Given the description of an element on the screen output the (x, y) to click on. 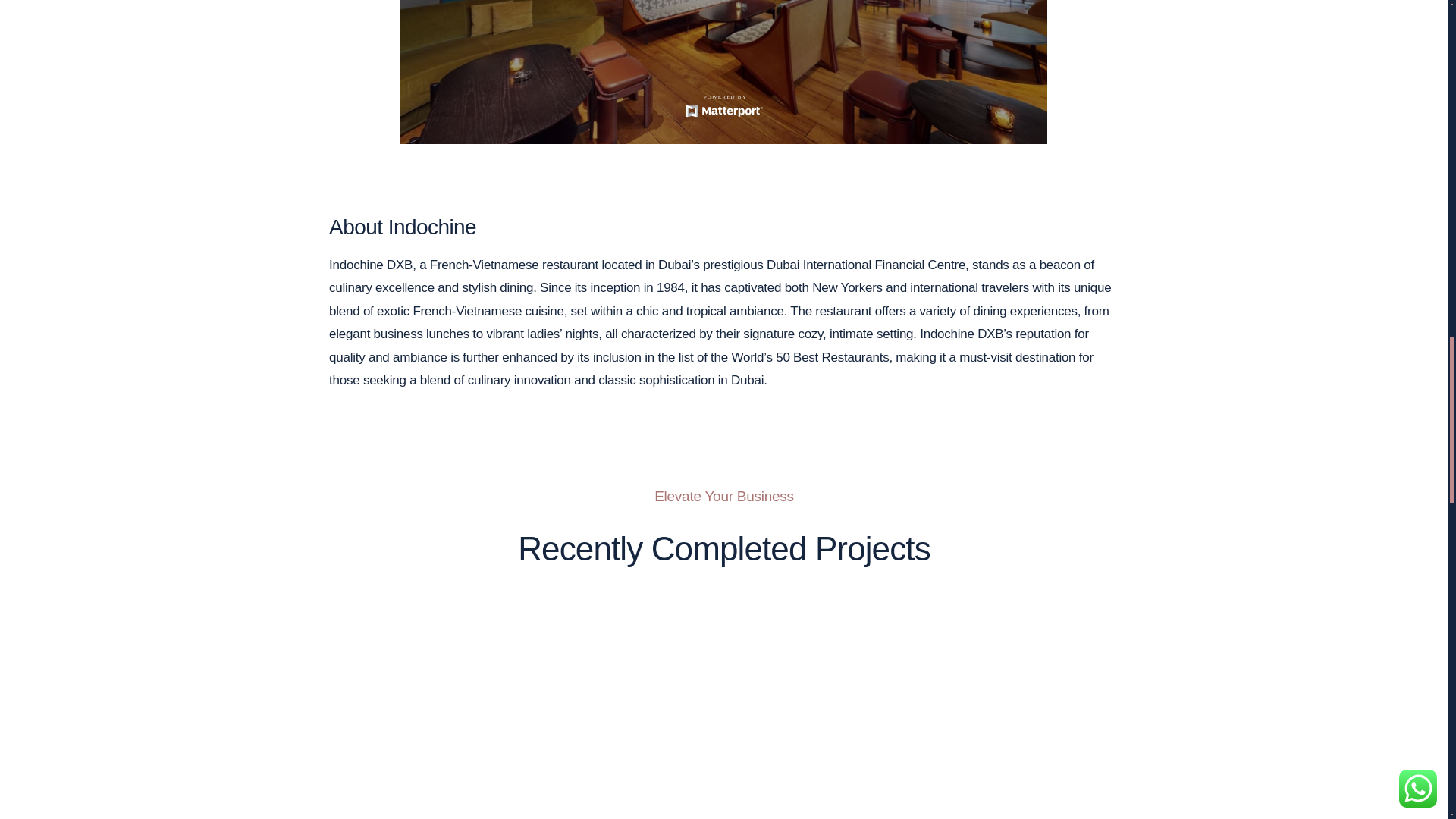
RAK College of Dental Sciences 2 (457, 716)
Fintech Payment Solutions 3 (991, 716)
